Given the description of an element on the screen output the (x, y) to click on. 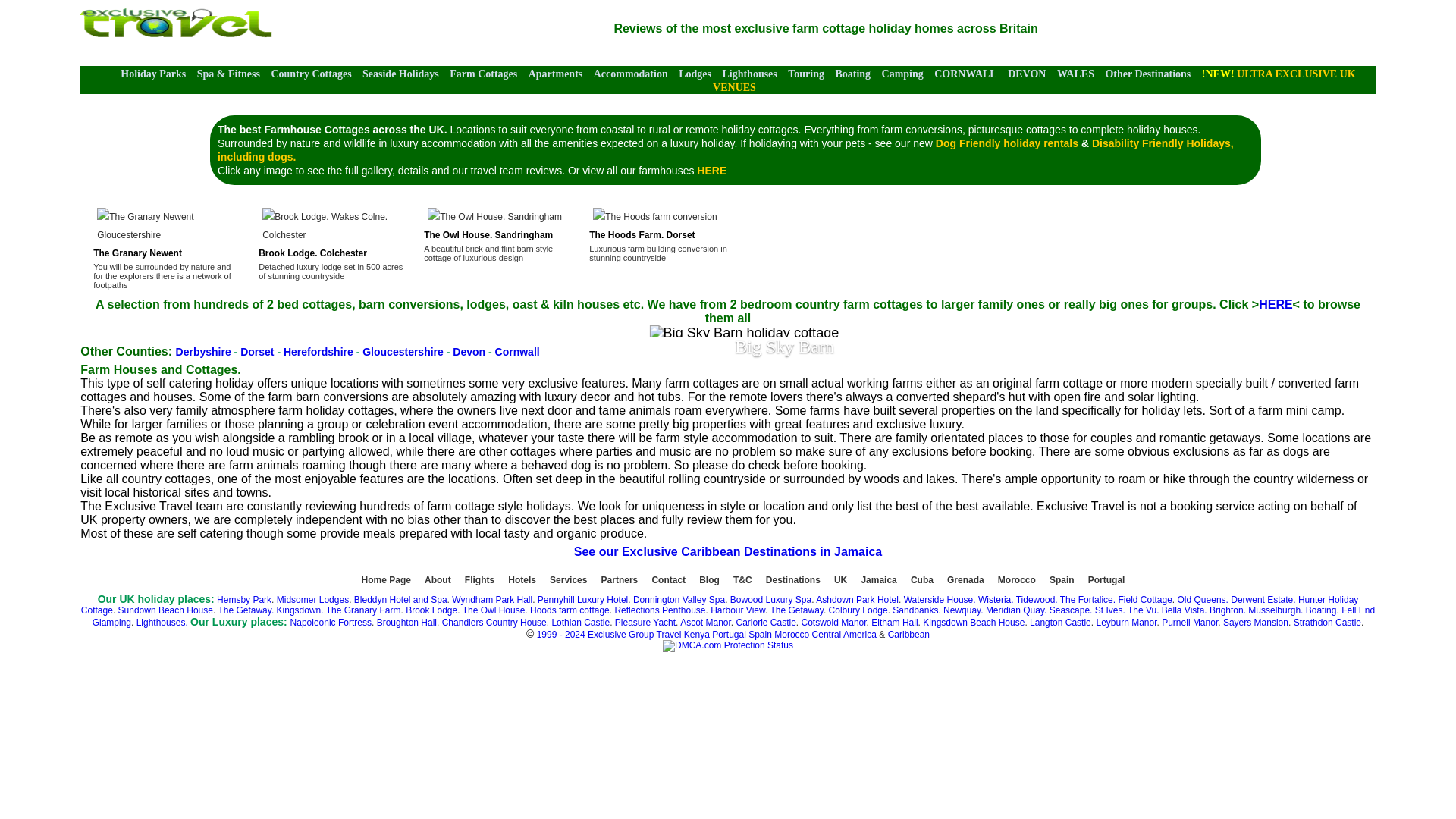
Luxury Spa health and fitness holiday breaks in UK (228, 73)
Country Cottages (310, 73)
Touring (805, 73)
Exclusive luxury holiday venues (1034, 80)
Disability Friendly Holidays, including dogs (724, 149)
Herefordshire (318, 351)
Brook Lodge. Colchester (334, 244)
Holiday Parks (153, 73)
Other Destinations (1148, 73)
WALES (1075, 73)
